Given the description of an element on the screen output the (x, y) to click on. 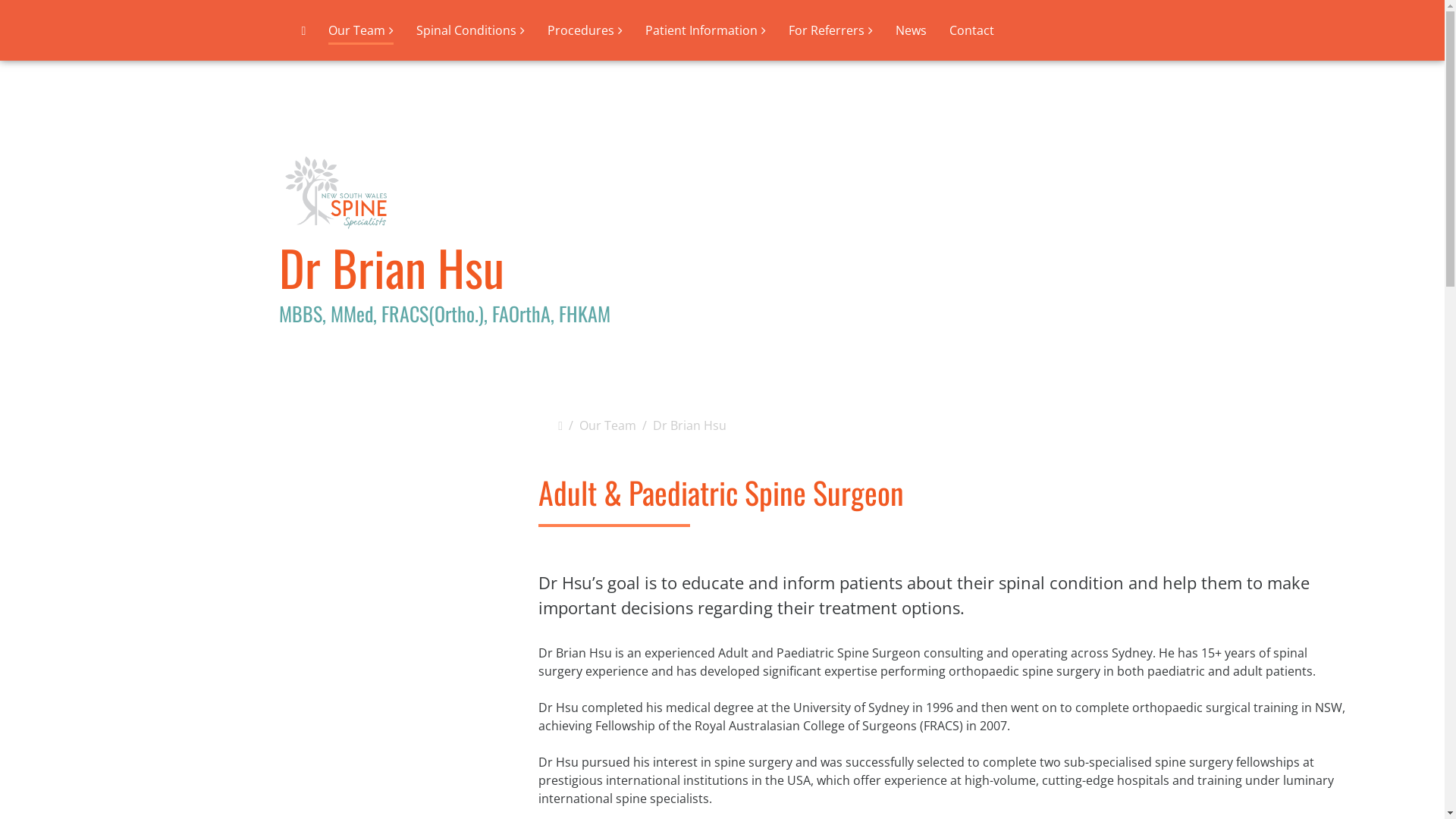
Contact Element type: text (971, 29)
For Referrers Element type: text (830, 29)
Our Team Element type: text (360, 32)
Spinal Conditions Element type: text (470, 29)
Our Team Element type: text (607, 425)
News Element type: text (910, 29)
Dr Brian Hsu Element type: text (689, 425)
Procedures Element type: text (584, 29)
Patient Information Element type: text (705, 29)
